Given the description of an element on the screen output the (x, y) to click on. 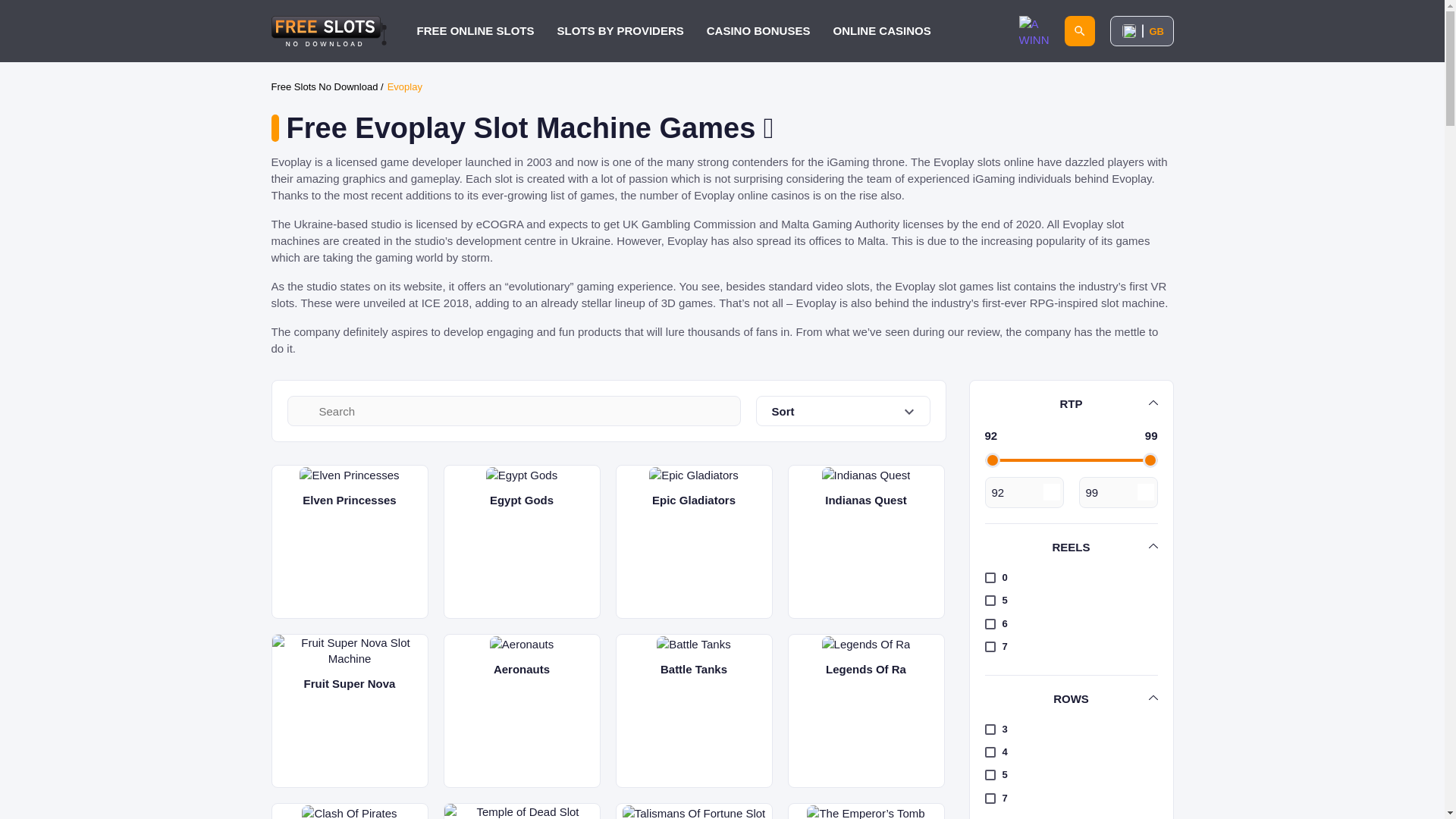
Elven Princesses (348, 474)
Battle Tanks (694, 710)
Battle Tanks (693, 643)
Fruit Super Nova Slot Machine (348, 650)
Aeronauts (520, 710)
Clash Of Pirates (349, 811)
SLOTS BY PROVIDERS (620, 30)
Epic Gladiators (694, 542)
Legends Of Ra (866, 643)
ONLINE CASINOS (881, 30)
